Given the description of an element on the screen output the (x, y) to click on. 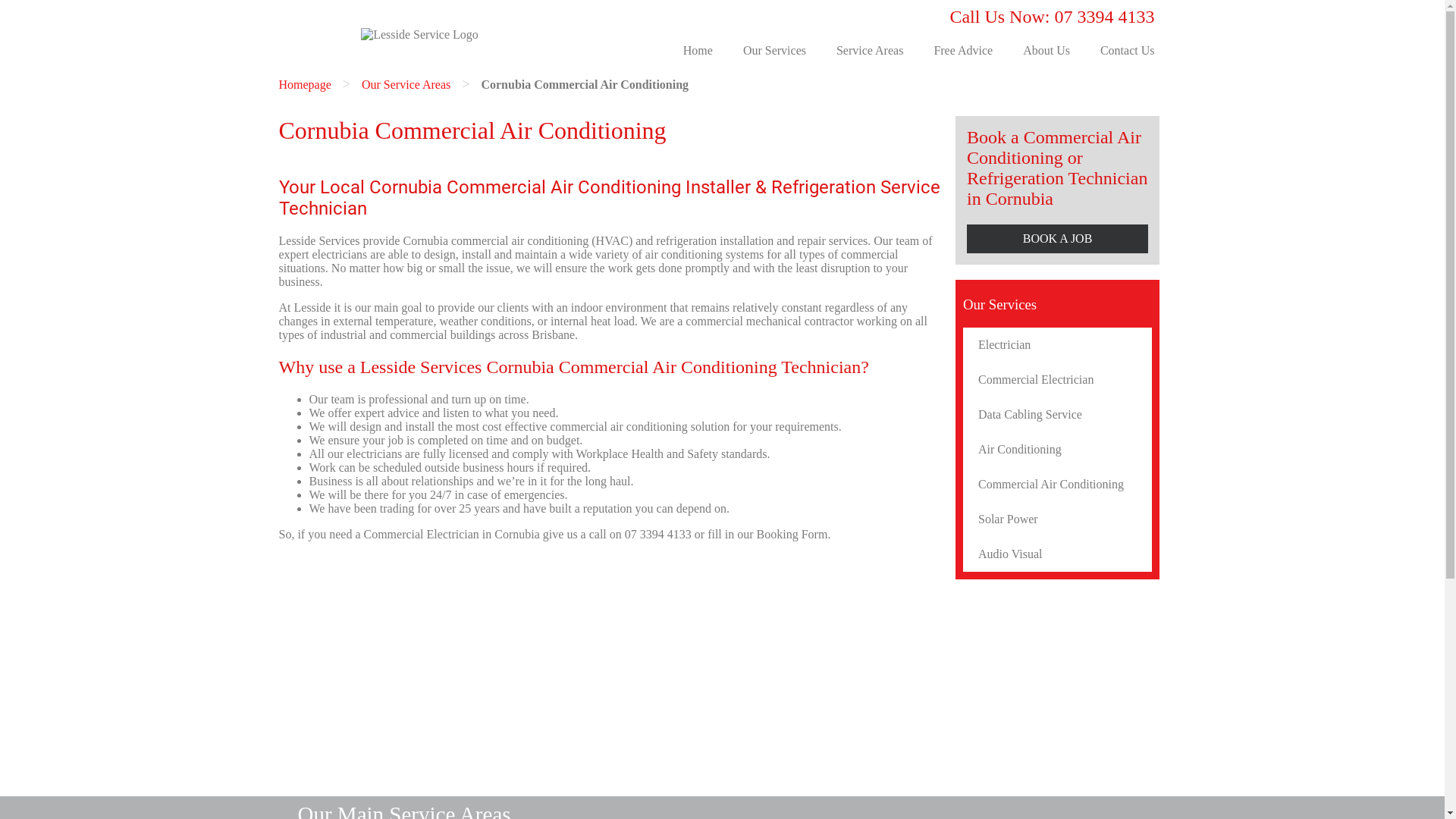
Air Conditioning Element type: text (1057, 449)
Contact Us Element type: text (1127, 50)
commercial air conditioning Element type: text (519, 240)
Home Element type: text (698, 50)
call Element type: text (597, 533)
Service Areas Element type: text (869, 50)
Homepage Element type: text (305, 83)
Commercial Air Conditioning Element type: text (1057, 484)
Our Service Areas Element type: text (405, 83)
Commercial Electrician Element type: text (1057, 379)
Electrician Element type: text (1057, 344)
BOOK A JOB Element type: text (1057, 238)
About Us Element type: text (1046, 50)
Booking Form Element type: text (792, 533)
Cornubia qld Element type: hover (611, 670)
Audio Visual Element type: text (1057, 553)
Call Us Now: 07 3394 4133 Element type: text (1051, 16)
Free Advice Element type: text (962, 50)
Solar Power Element type: text (1057, 519)
Our Services Element type: text (774, 50)
Data Cabling Service Element type: text (1057, 414)
